Given the description of an element on the screen output the (x, y) to click on. 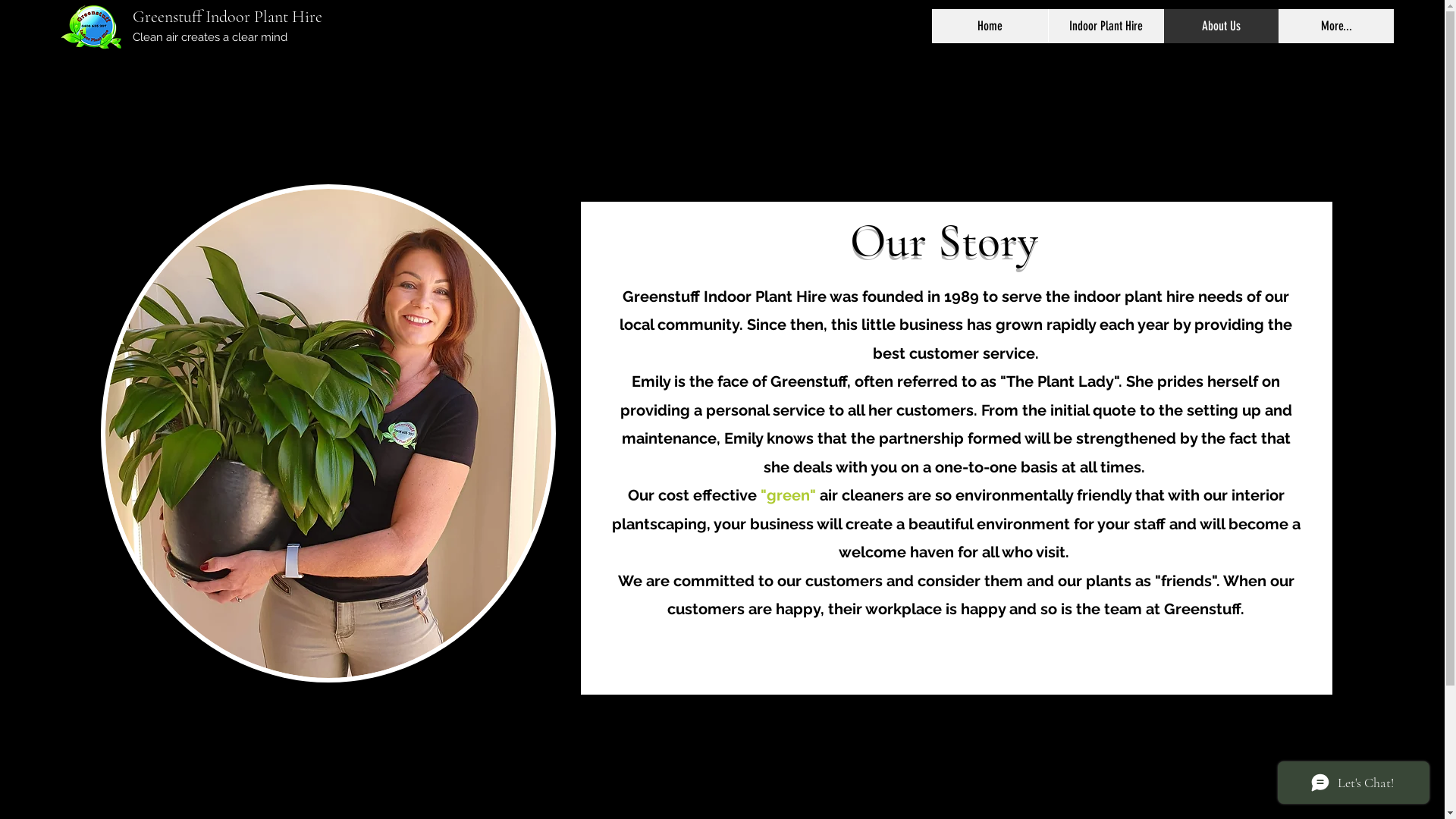
Greenstuff Indoor Plant Hire Element type: text (227, 16)
Home Element type: text (989, 26)
About Us Element type: text (1220, 26)
Gallery Element type: text (1119, 24)
Indoor Plant Hire Element type: text (1105, 26)
